Given the description of an element on the screen output the (x, y) to click on. 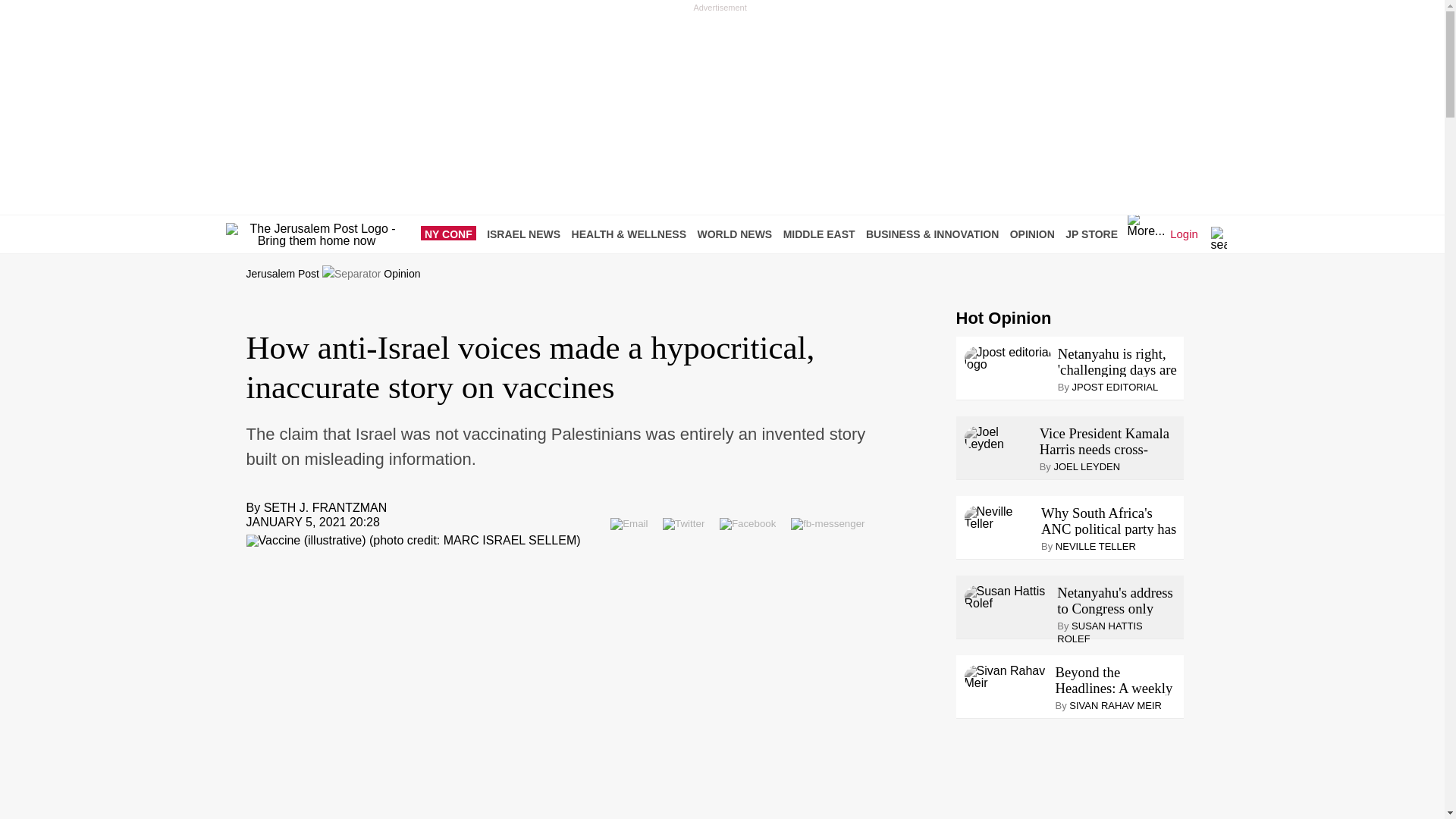
The Jerusalem Post Logo - Bring them home now (316, 234)
Opinion (402, 273)
OPINION (1036, 234)
Joel Leyden (998, 437)
NY CONF (451, 234)
WORLD NEWS (737, 234)
Opinion (402, 273)
SETH J. FRANTZMAN (325, 507)
Neville Teller  (999, 517)
Netanyahu is right, 'challenging days are ahead' (1117, 361)
Jerusalem Post (282, 273)
Jpost editorial logo  (1007, 358)
JP STORE (1095, 234)
